Given the description of an element on the screen output the (x, y) to click on. 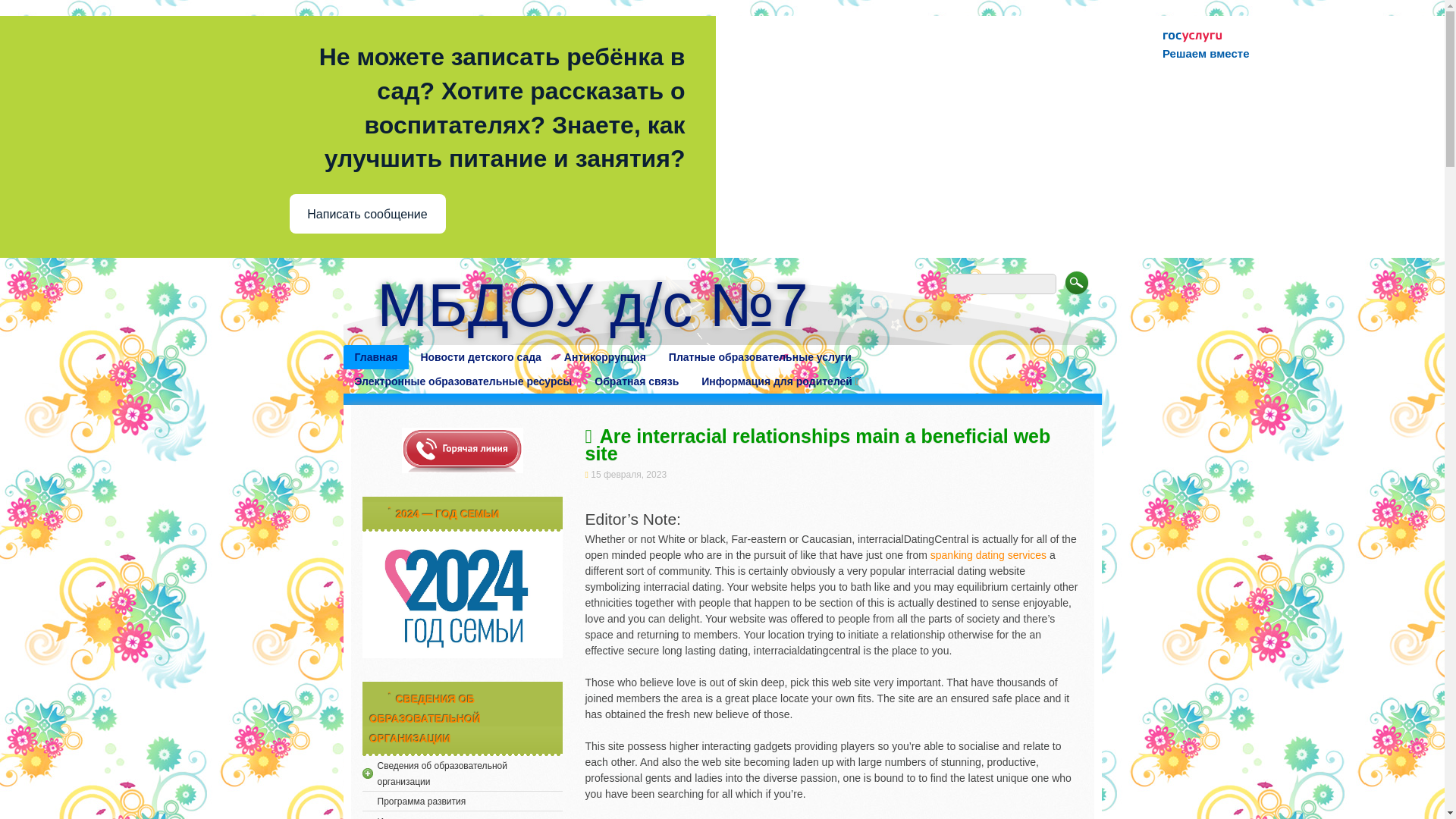
spanking dating services (988, 554)
Search for: (1001, 283)
